Given the description of an element on the screen output the (x, y) to click on. 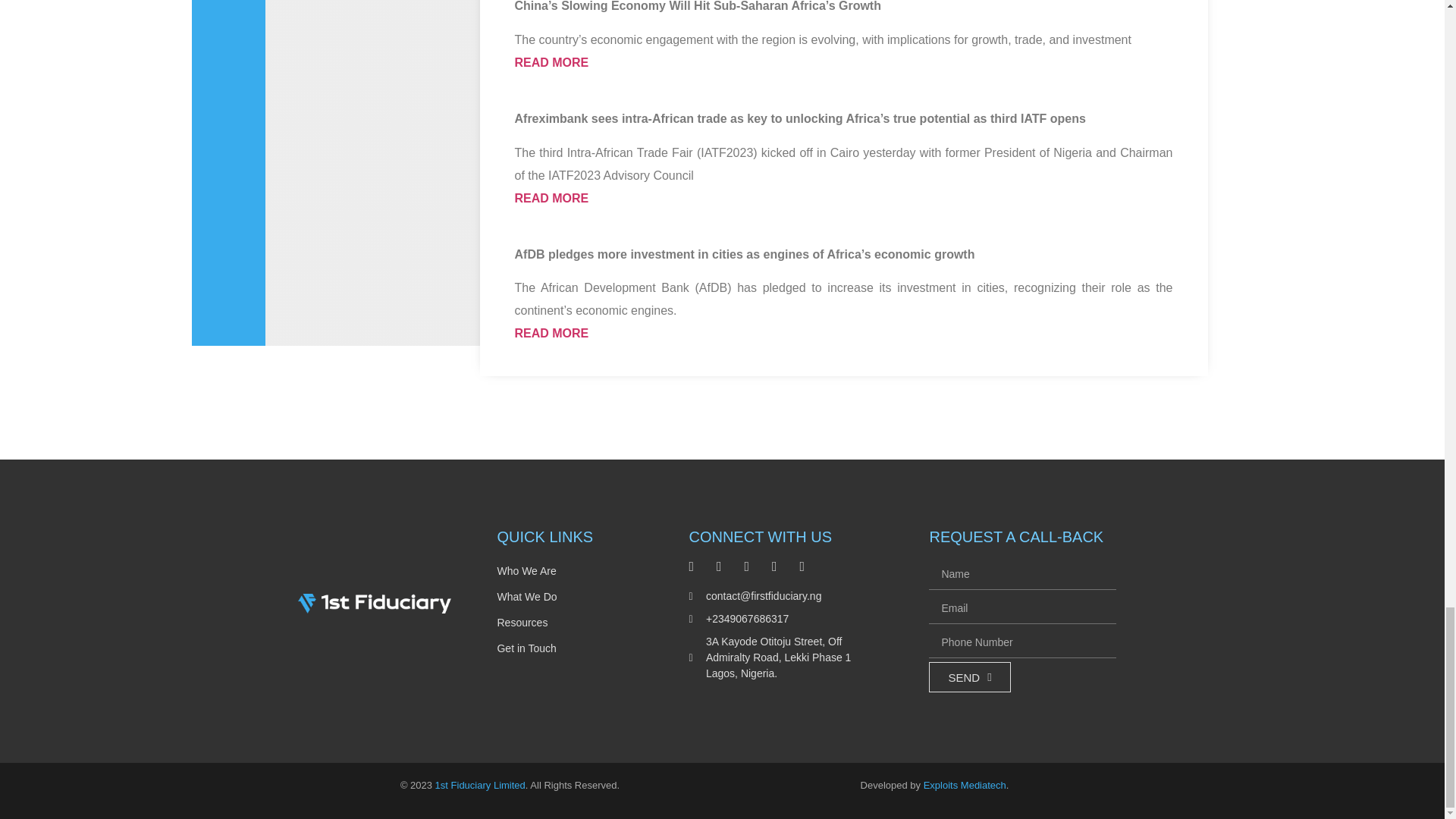
READ MORE (550, 332)
Who We Are (569, 570)
READ MORE (550, 62)
What We Do (569, 596)
Resources (569, 621)
Get in Touch (569, 648)
READ MORE (550, 197)
